Given the description of an element on the screen output the (x, y) to click on. 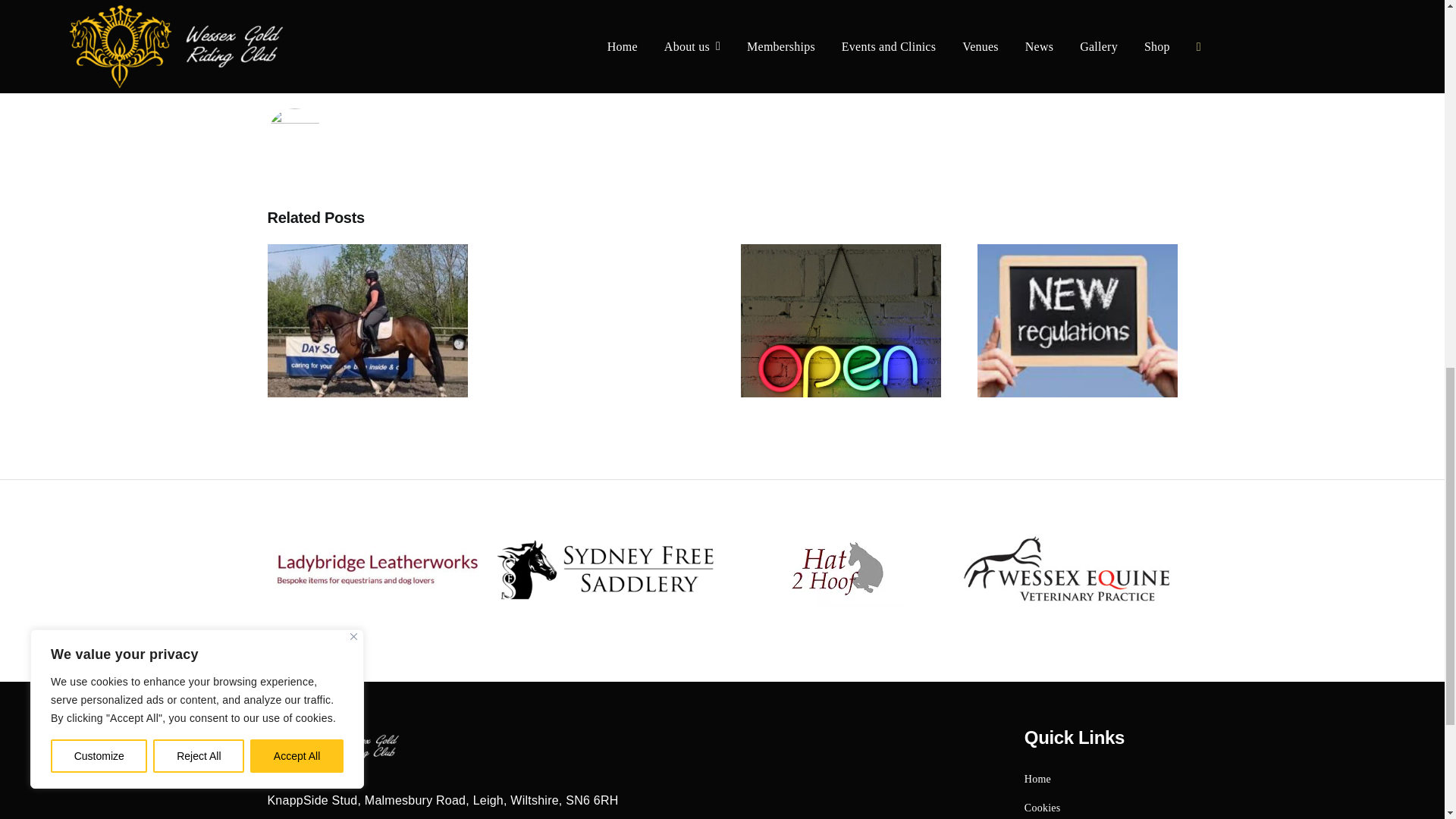
Wessex Gold Riding Club (334, 747)
Posts by Jo Howse (430, 87)
